Given the description of an element on the screen output the (x, y) to click on. 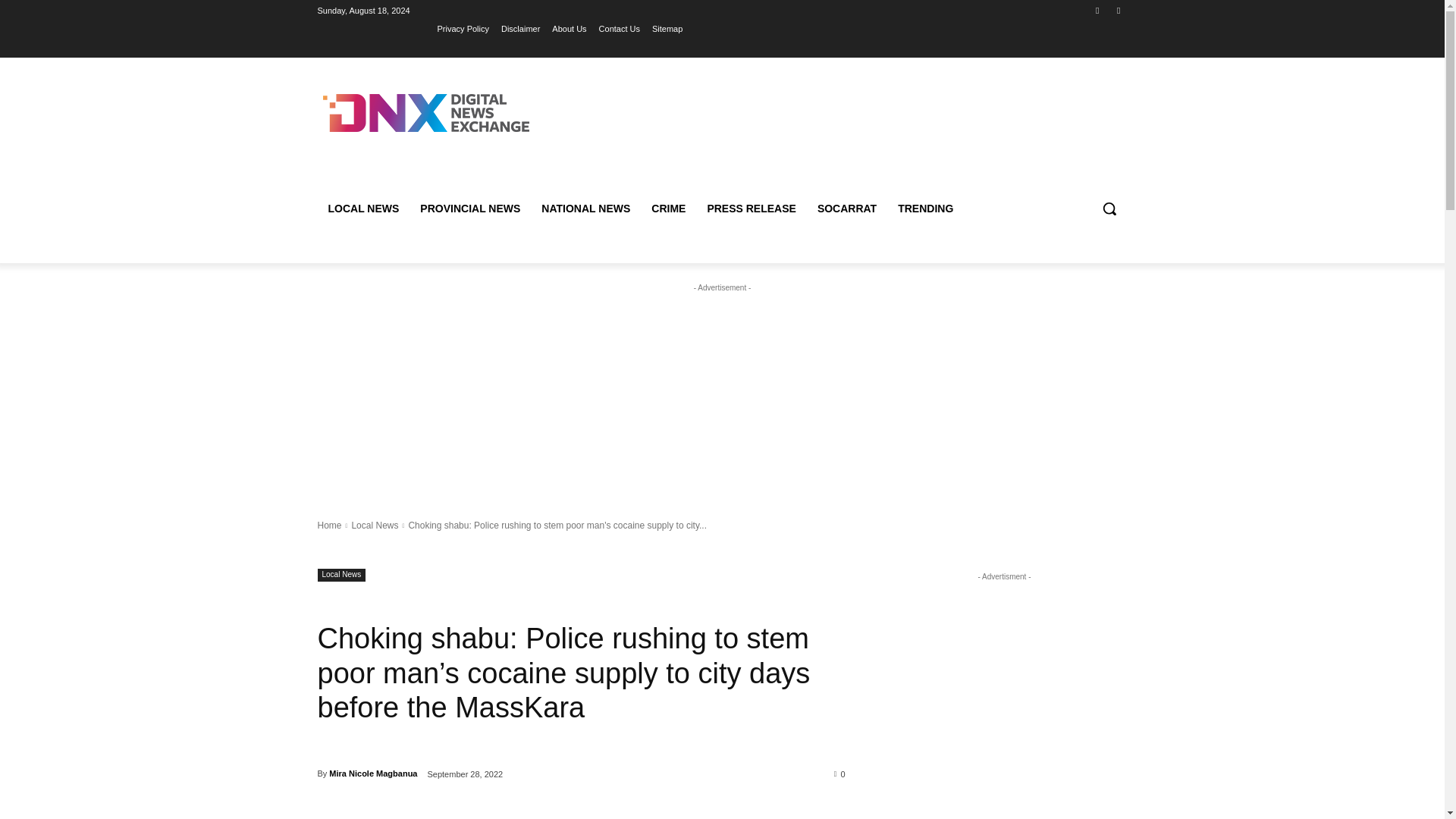
Advertisement (721, 390)
TRENDING (924, 208)
LOCAL NEWS (363, 208)
PROVINCIAL NEWS (470, 208)
Facebook (1097, 9)
Home (328, 525)
SOCARRAT (846, 208)
0 (839, 773)
